Given the description of an element on the screen output the (x, y) to click on. 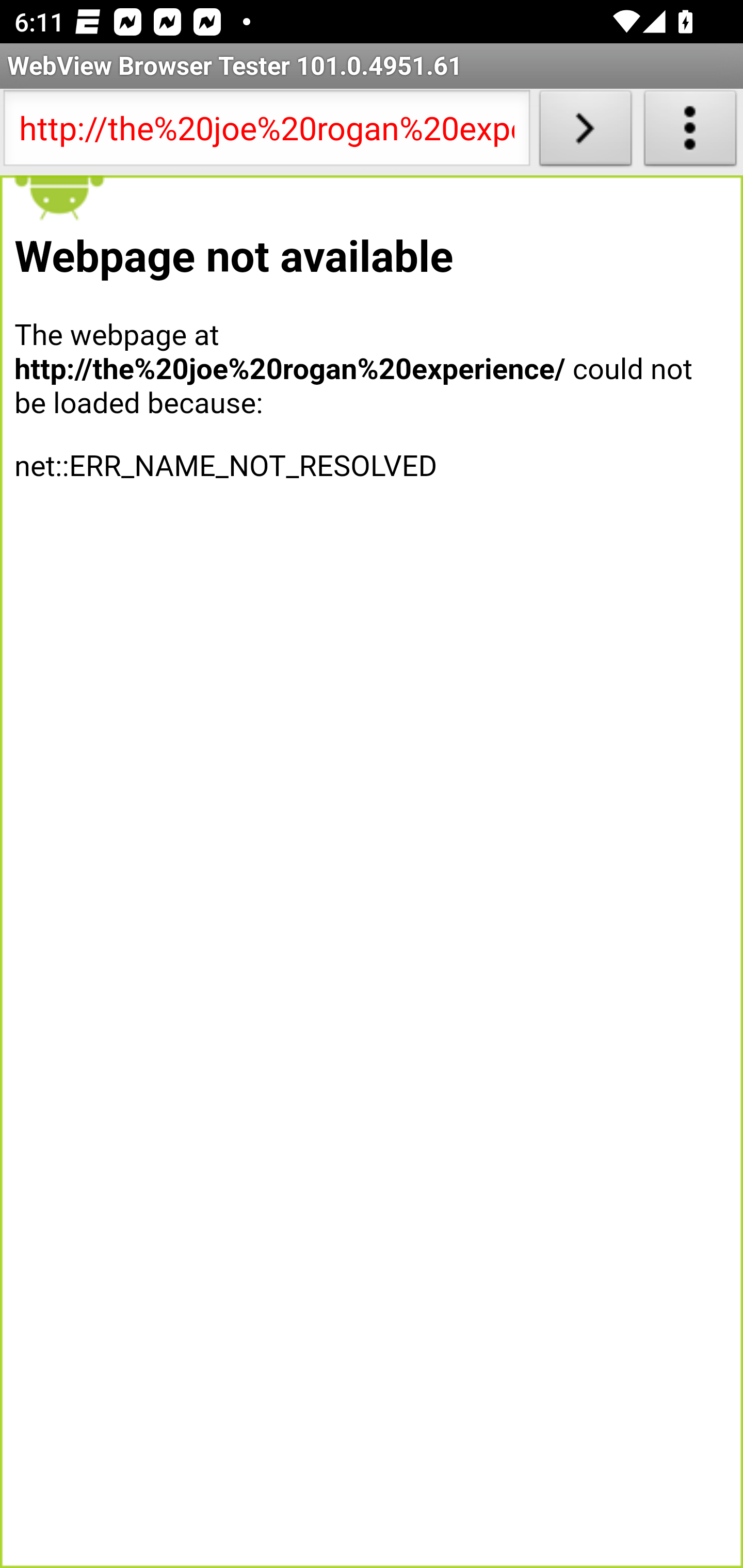
http://the%20joe%20rogan%20experience/ (266, 132)
Load URL (585, 132)
About WebView (690, 132)
